Given the description of an element on the screen output the (x, y) to click on. 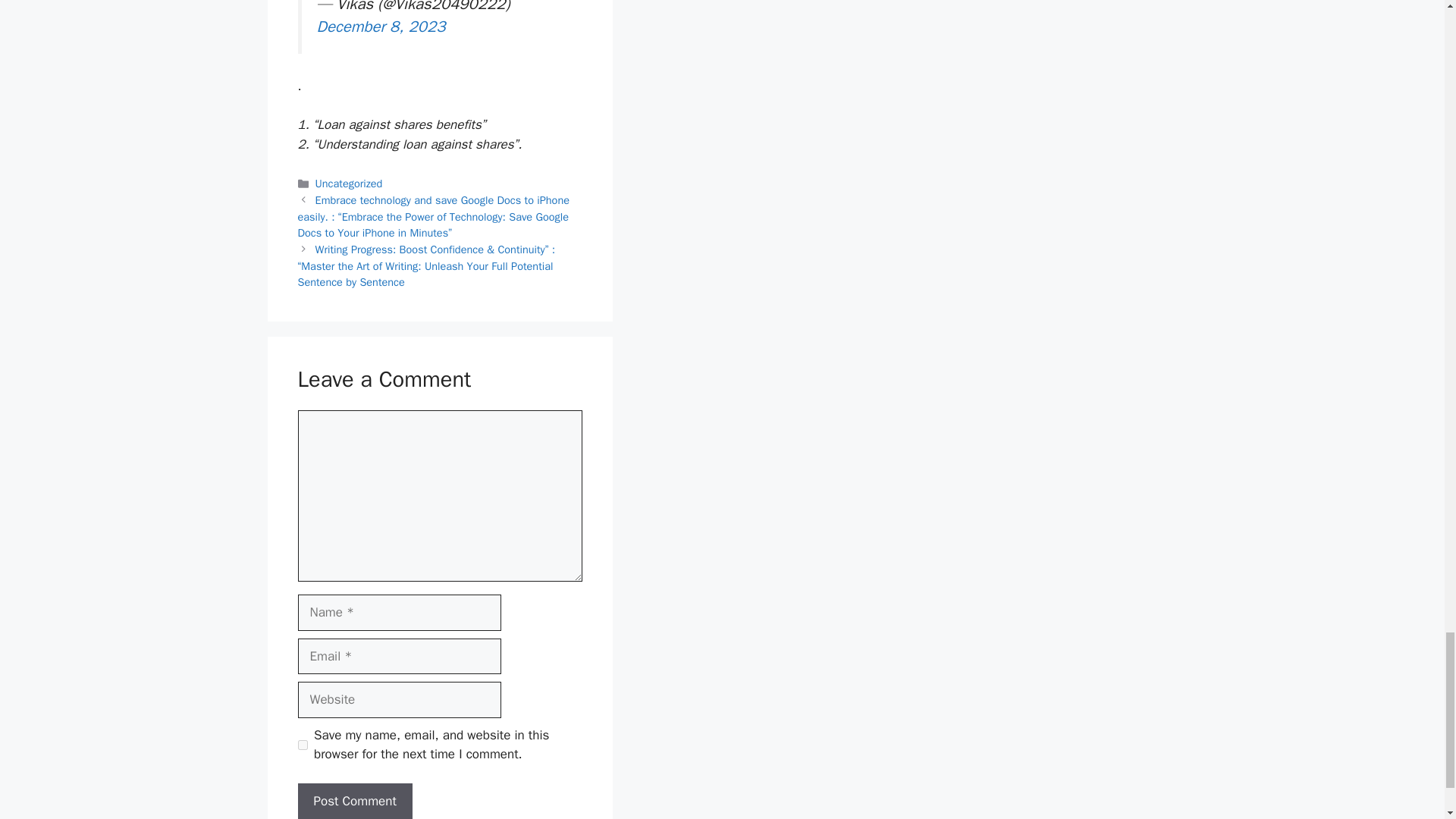
yes (302, 745)
Uncategorized (348, 183)
Post Comment (354, 800)
Post Comment (354, 800)
December 8, 2023 (381, 26)
